Given the description of an element on the screen output the (x, y) to click on. 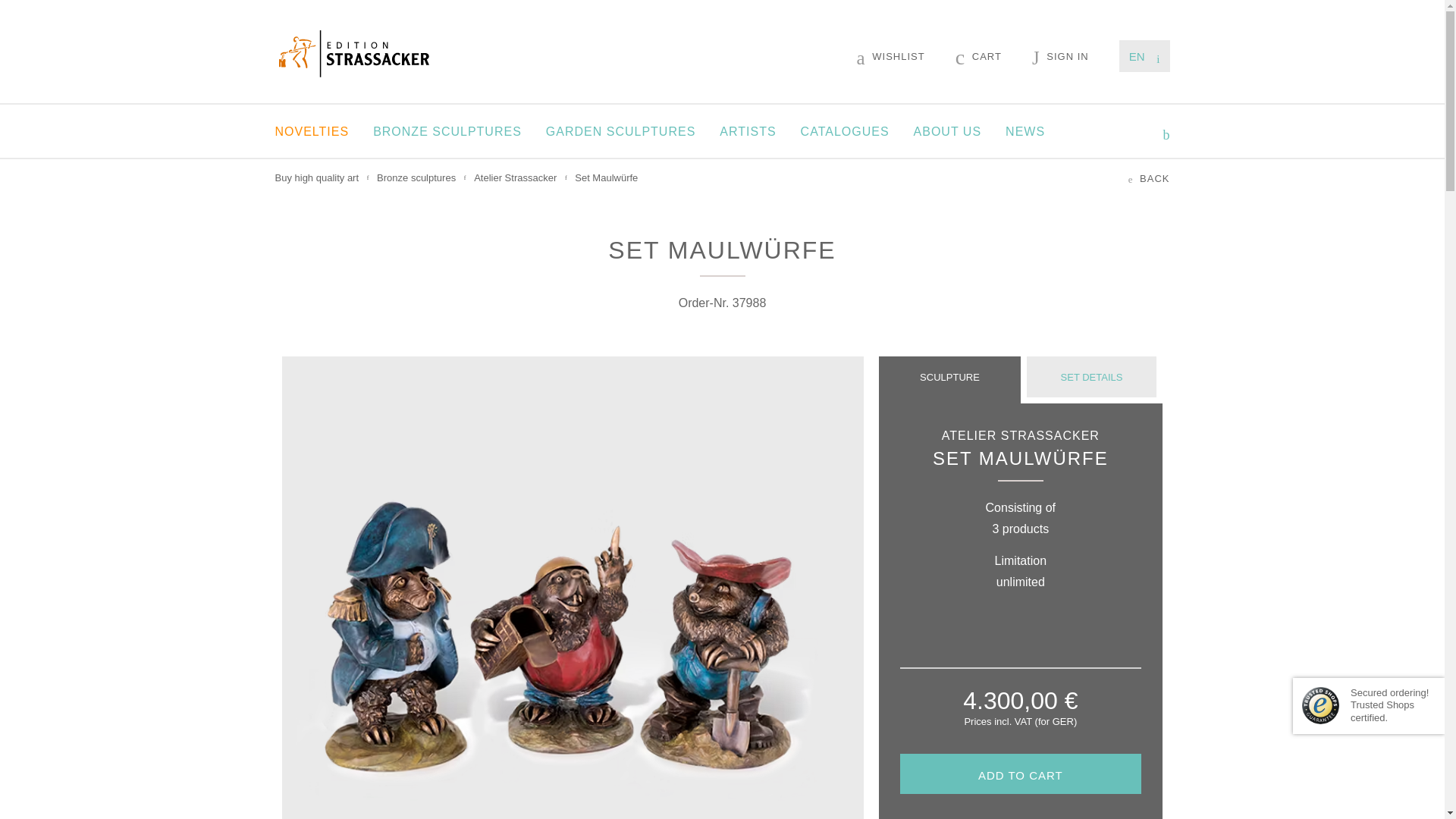
GARDEN SCULPTURES (620, 131)
CART (978, 56)
NOVELTIES (312, 131)
BRONZE SCULPTURES (446, 131)
WISHLIST (890, 56)
SIGN IN (1060, 56)
